Given the description of an element on the screen output the (x, y) to click on. 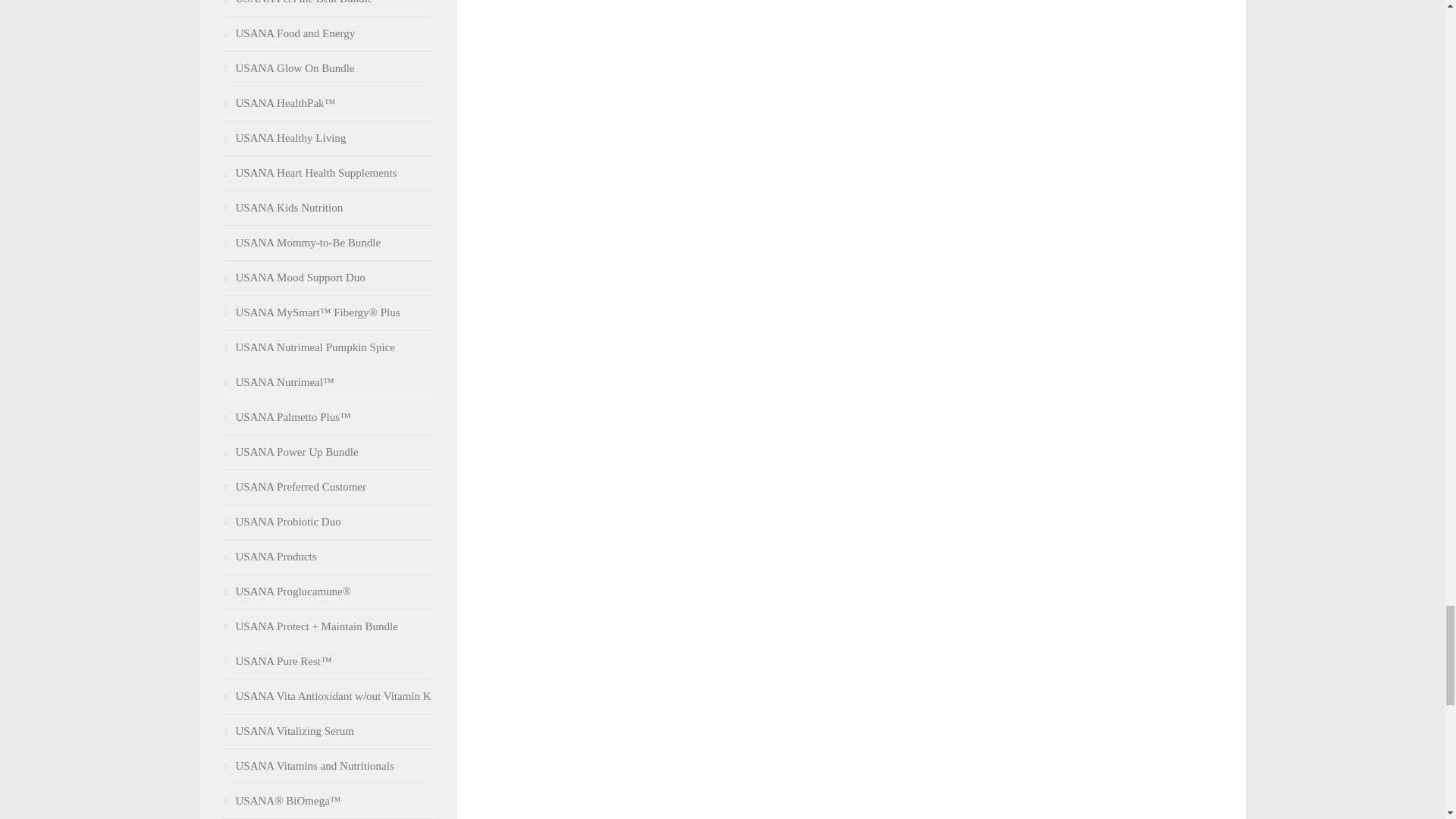
USANA Food and Energy (288, 33)
USANA Healthy Living (283, 137)
